Given the description of an element on the screen output the (x, y) to click on. 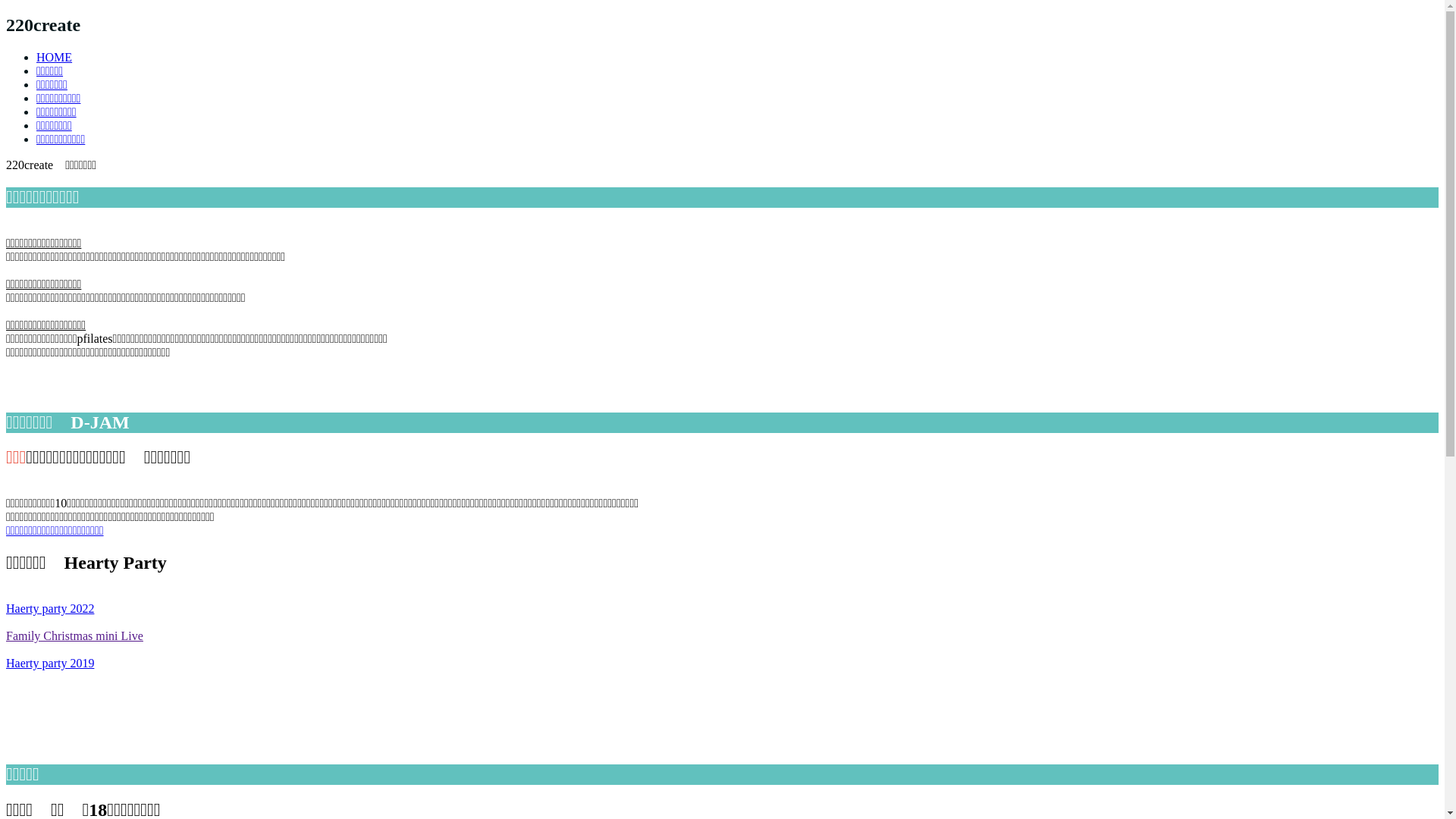
Haerty party 2022 Element type: text (50, 608)
Family Christmas mini Live Element type: text (74, 635)
HOME Element type: text (54, 56)
Haerty party 2019 Element type: text (50, 662)
